Given the description of an element on the screen output the (x, y) to click on. 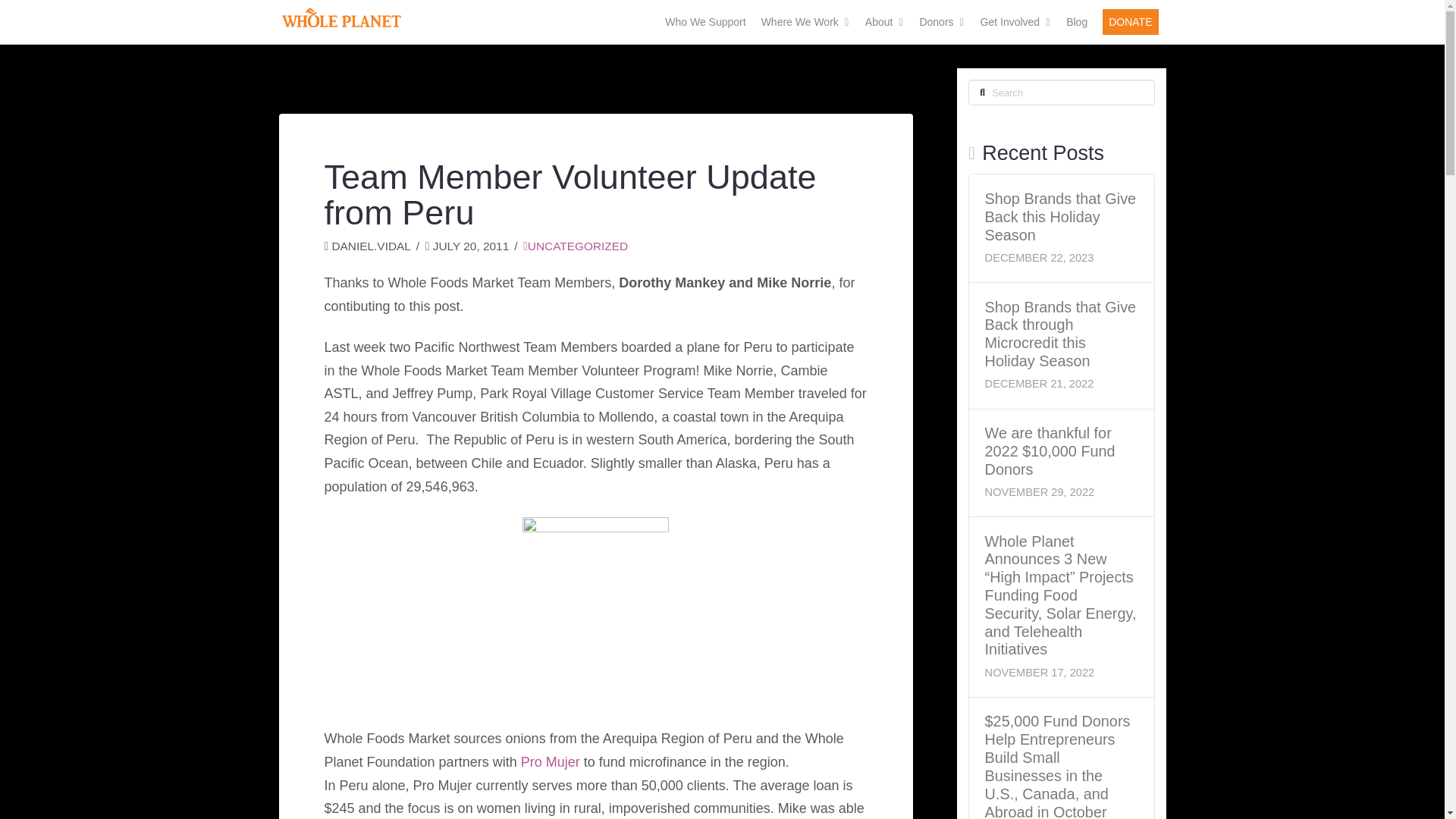
About (884, 22)
UNCATEGORIZED (574, 245)
DONATE (1130, 22)
Pro Mujer (550, 761)
Get Involved (1015, 22)
Where We Work (805, 22)
Who We Support (705, 22)
Donors (941, 22)
